Given the description of an element on the screen output the (x, y) to click on. 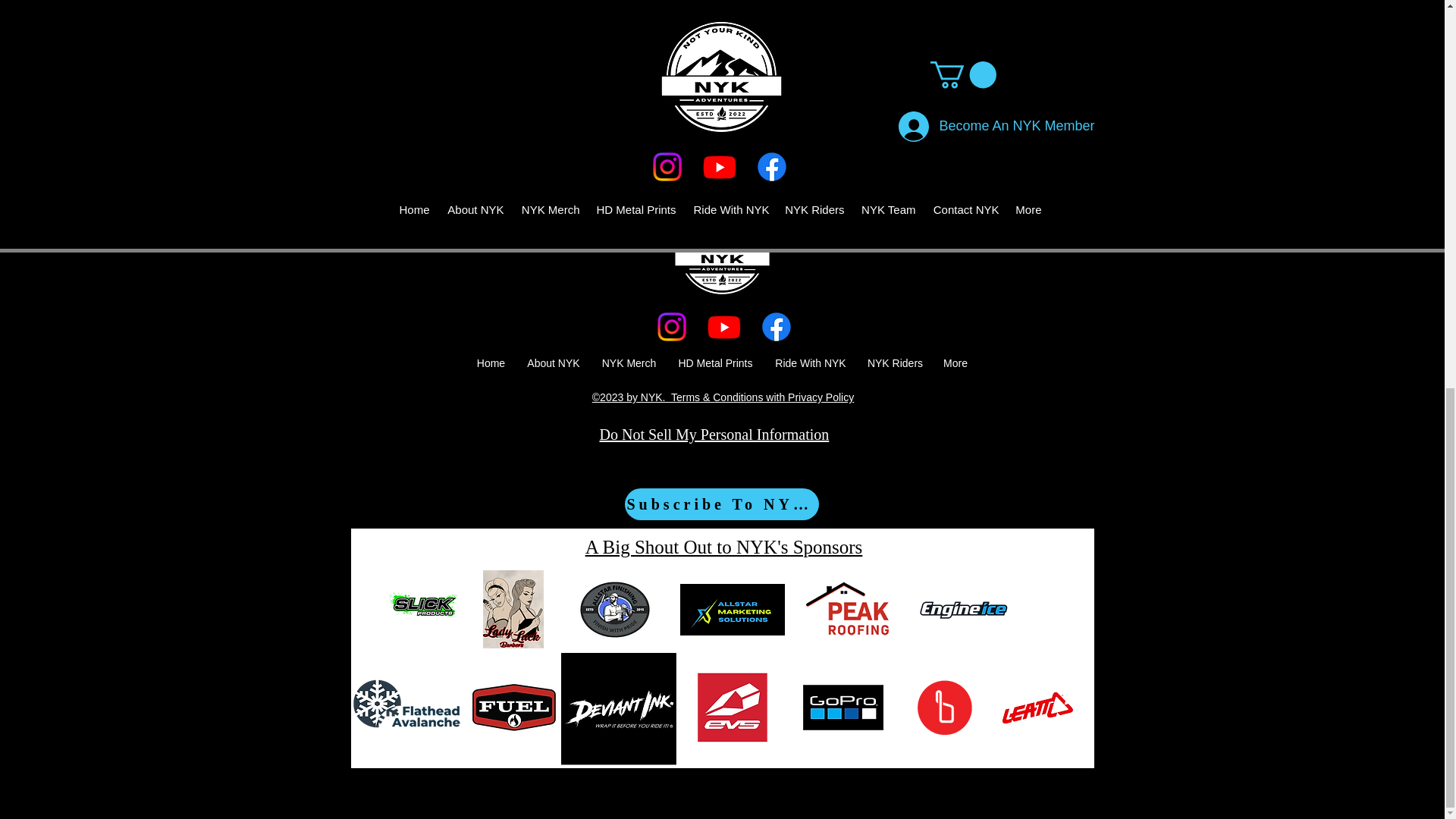
Home (490, 363)
Ride With NYK (810, 363)
NYK Riders (895, 363)
Subscribe To NYK! (721, 504)
About NYK (553, 363)
NYK Merch (628, 363)
HD Metal Prints (715, 363)
Do Not Sell My Personal Information (713, 434)
